Given the description of an element on the screen output the (x, y) to click on. 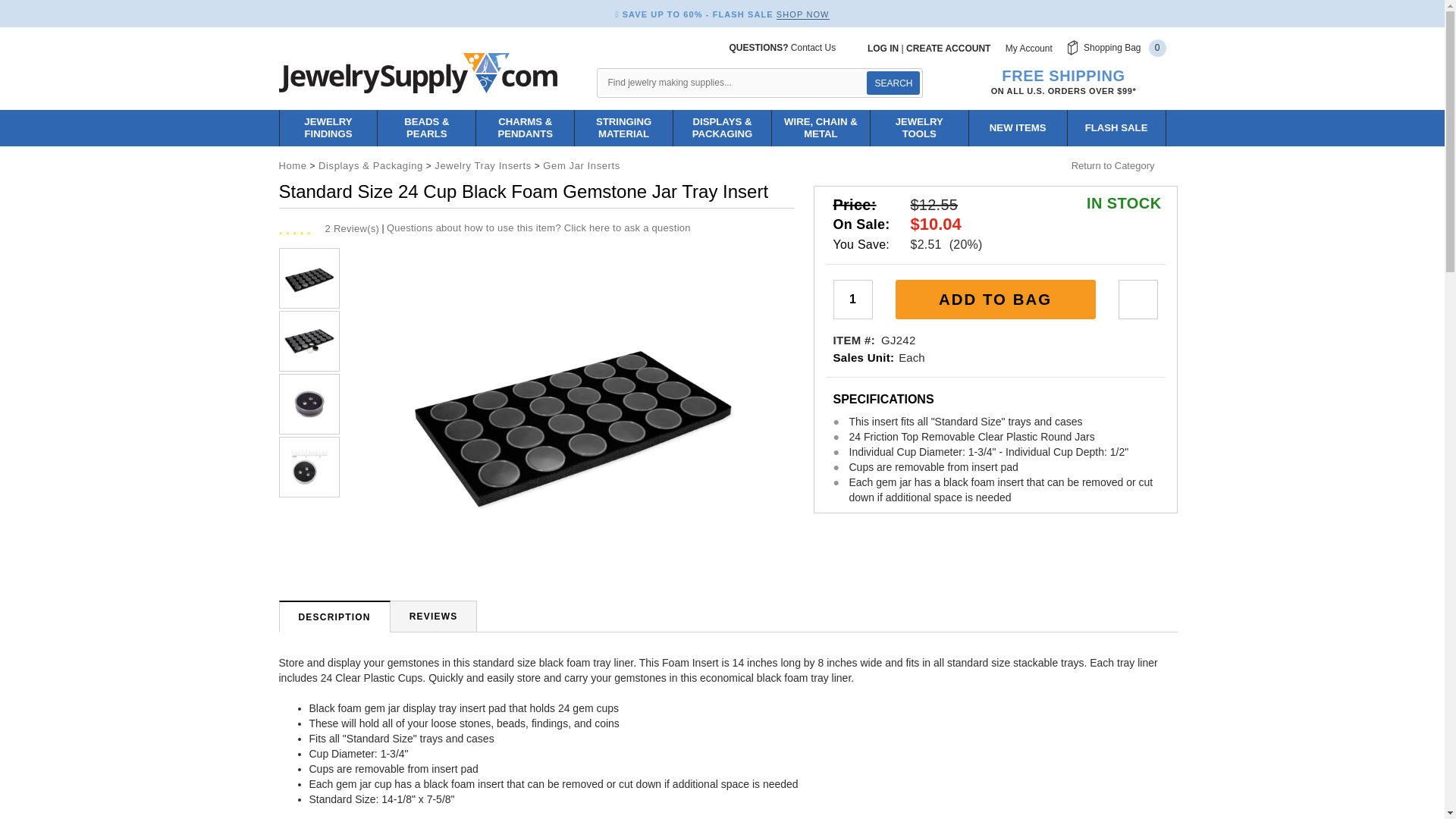
JEWELRY FINDINGS (328, 127)
1 (852, 299)
Shopping Bag0 (1116, 47)
SHOP NOW (802, 14)
FLASH SALE (1116, 127)
STRINGING MATERIAL (623, 127)
Jewelry Tray Inserts (482, 165)
JEWELRY TOOLS (919, 127)
My Account (1029, 48)
NEW ITEMS (1018, 127)
